Given the description of an element on the screen output the (x, y) to click on. 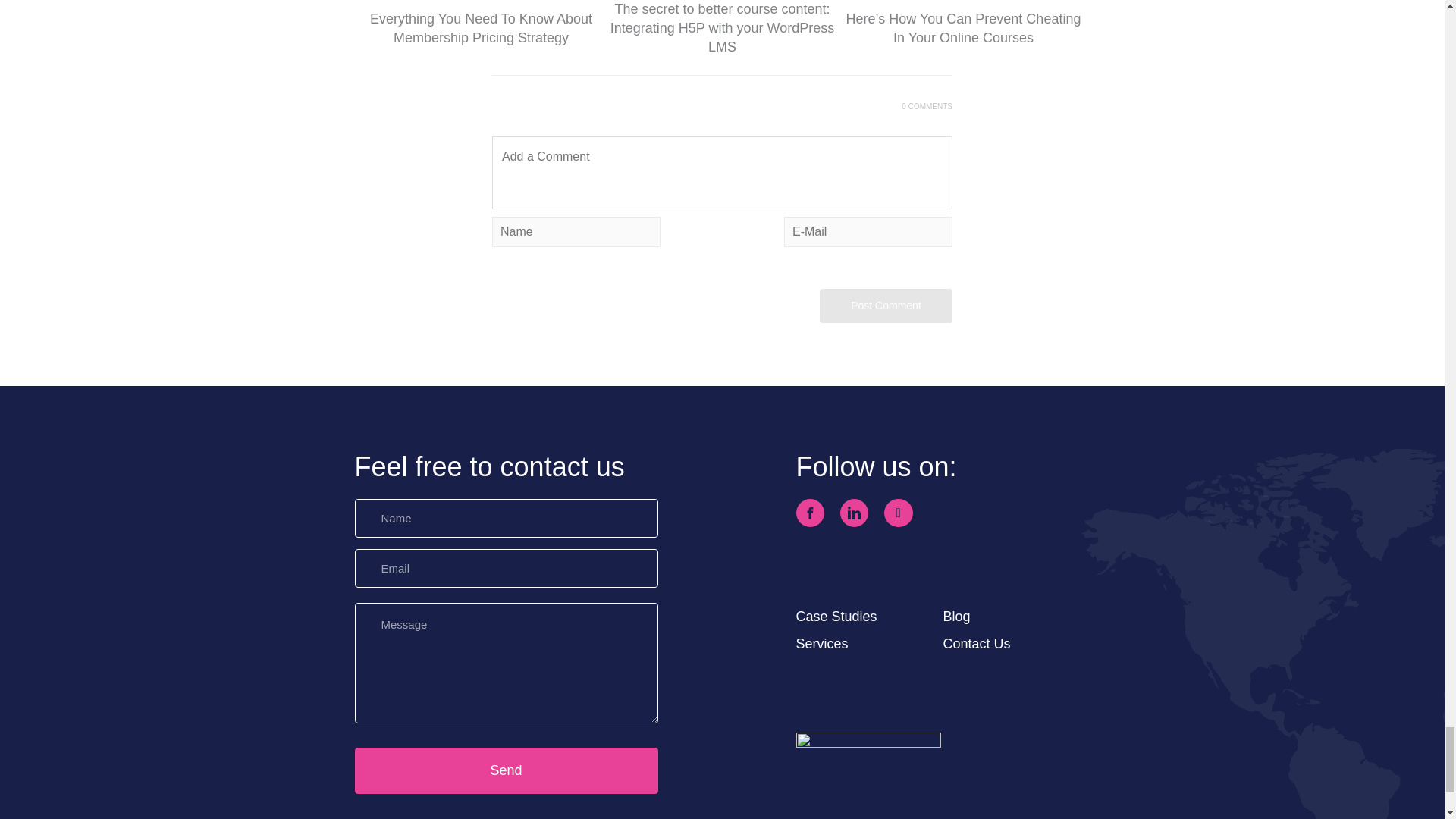
Post Comment (885, 305)
Services (822, 643)
Send (506, 770)
Blog (957, 616)
Contact Us (976, 643)
Post Comment (885, 305)
Case Studies (836, 616)
